Given the description of an element on the screen output the (x, y) to click on. 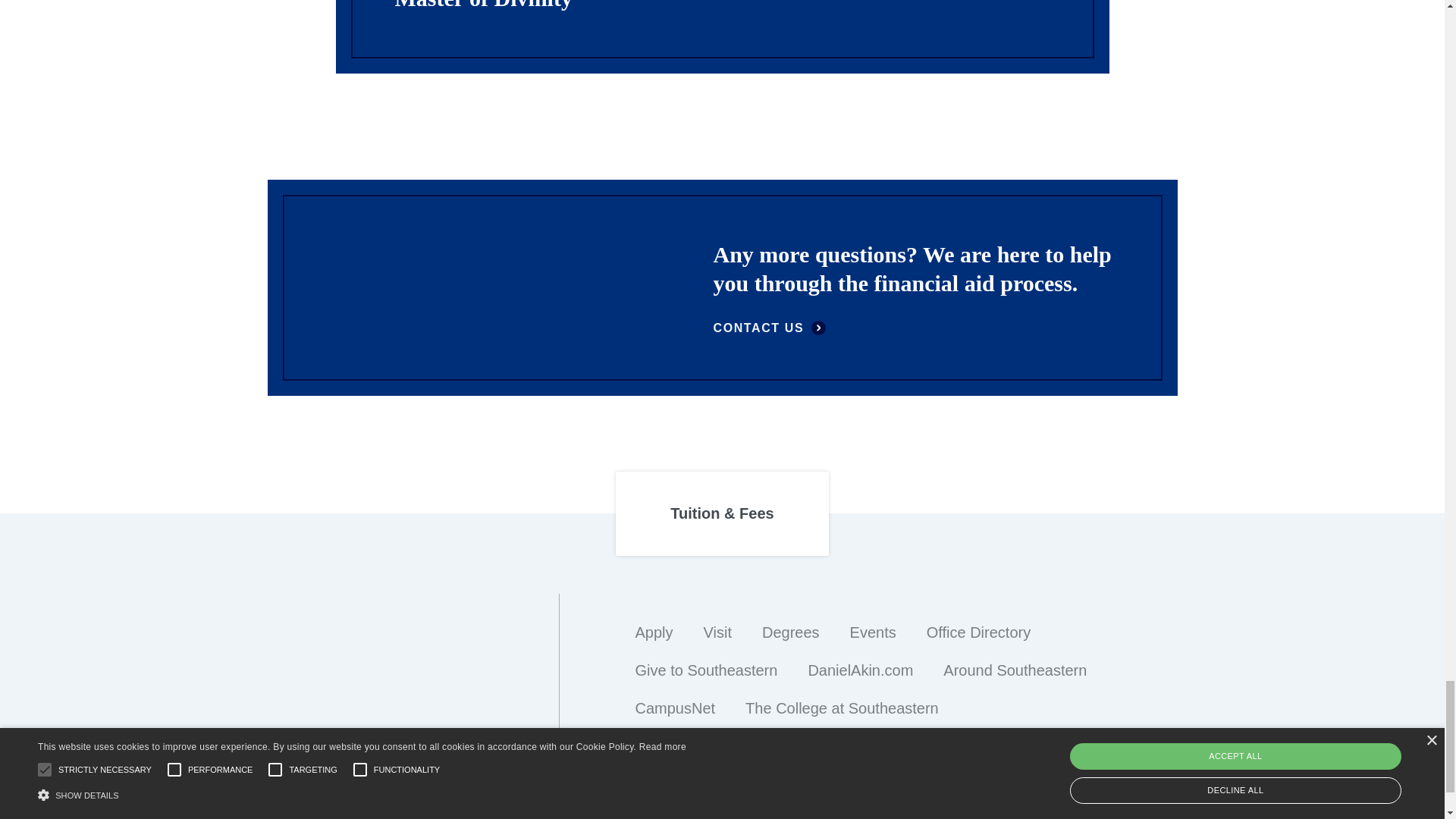
Return to Homepage (411, 783)
